Given the description of an element on the screen output the (x, y) to click on. 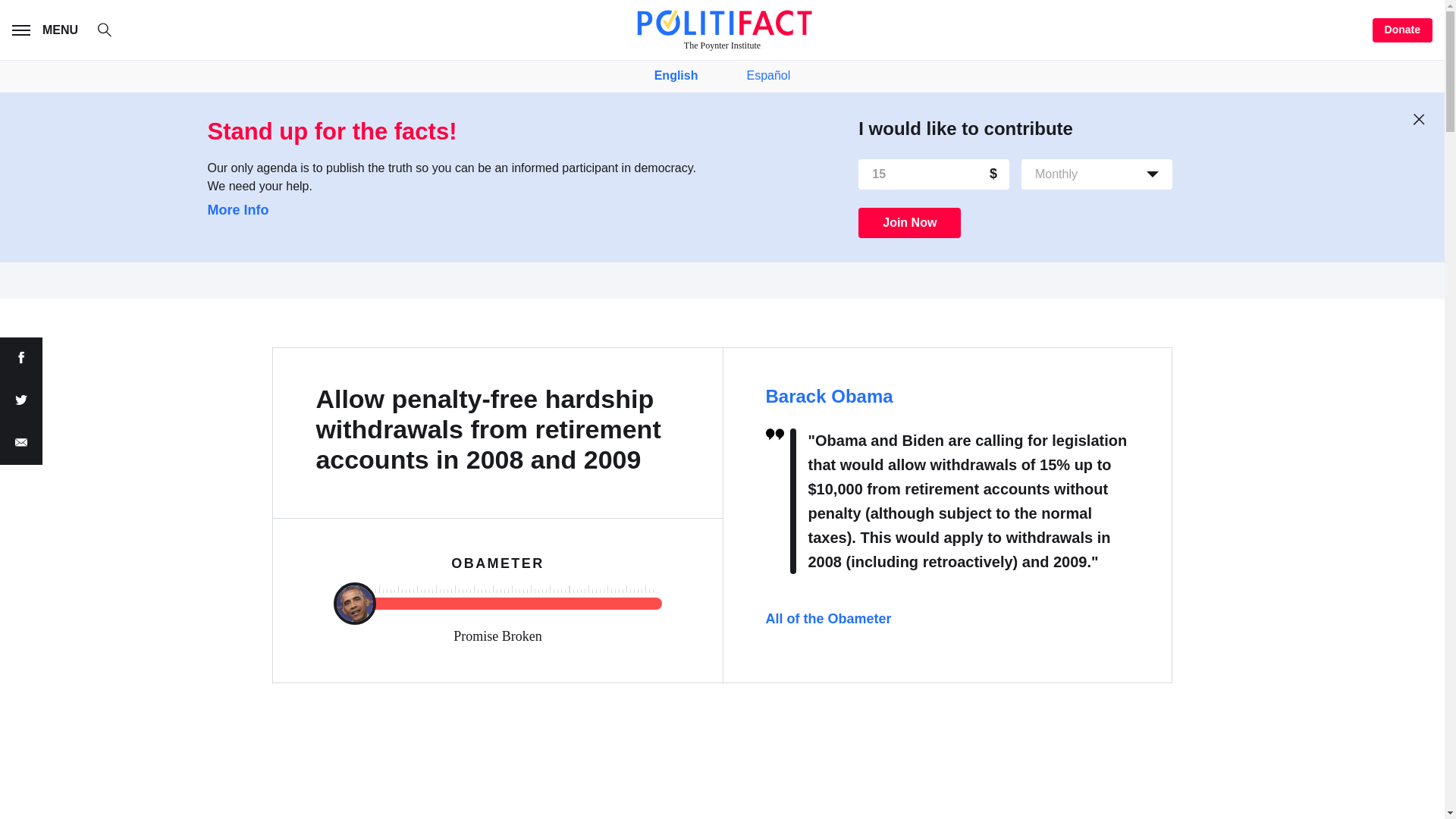
Search (111, 31)
Donate (1402, 30)
MENU (47, 30)
The Poynter Institute (721, 29)
